Given the description of an element on the screen output the (x, y) to click on. 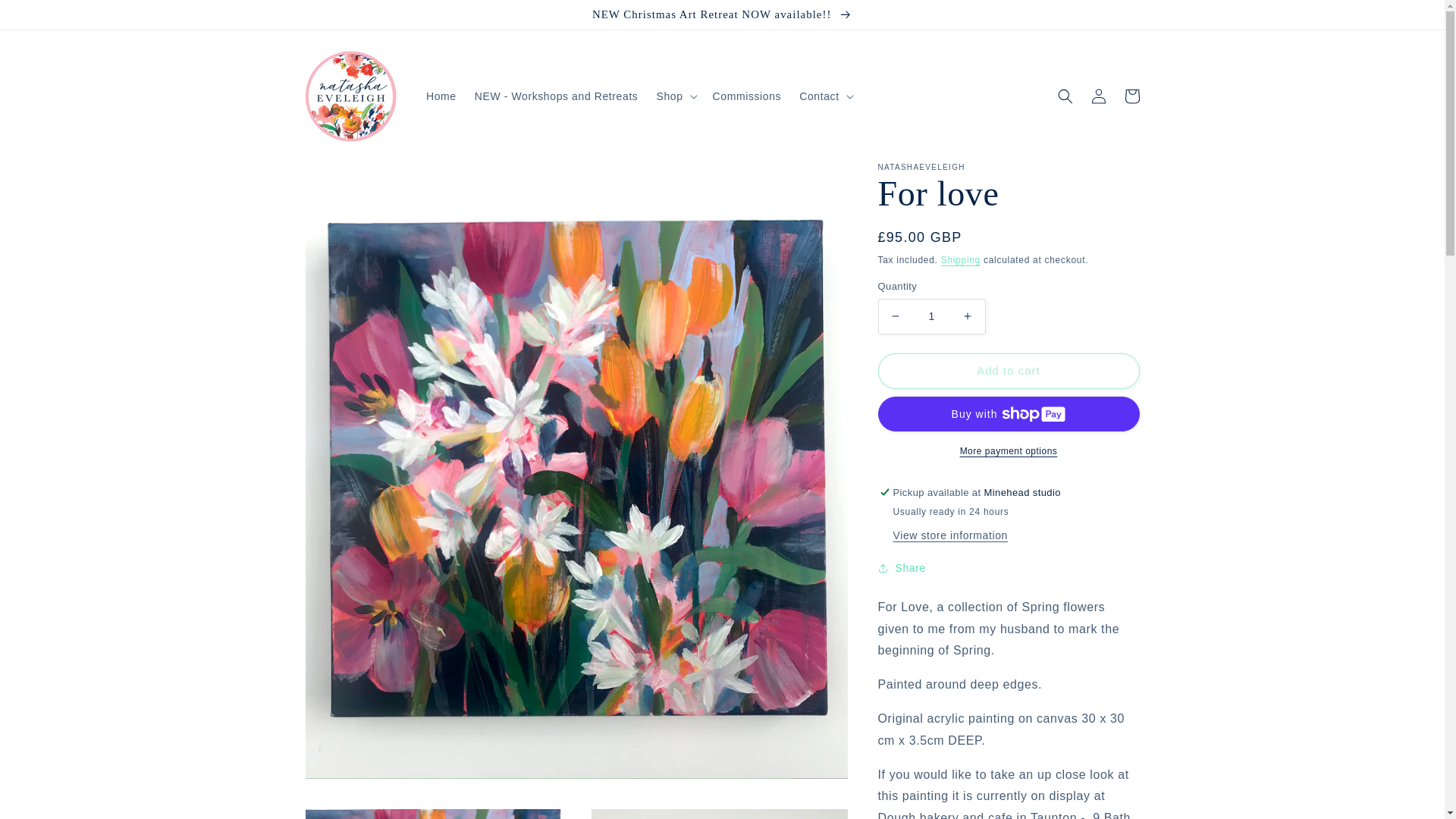
Skip to content (45, 17)
Commissions (746, 96)
Home (440, 96)
NEW - Workshops and Retreats (556, 96)
1 (931, 316)
